Given the description of an element on the screen output the (x, y) to click on. 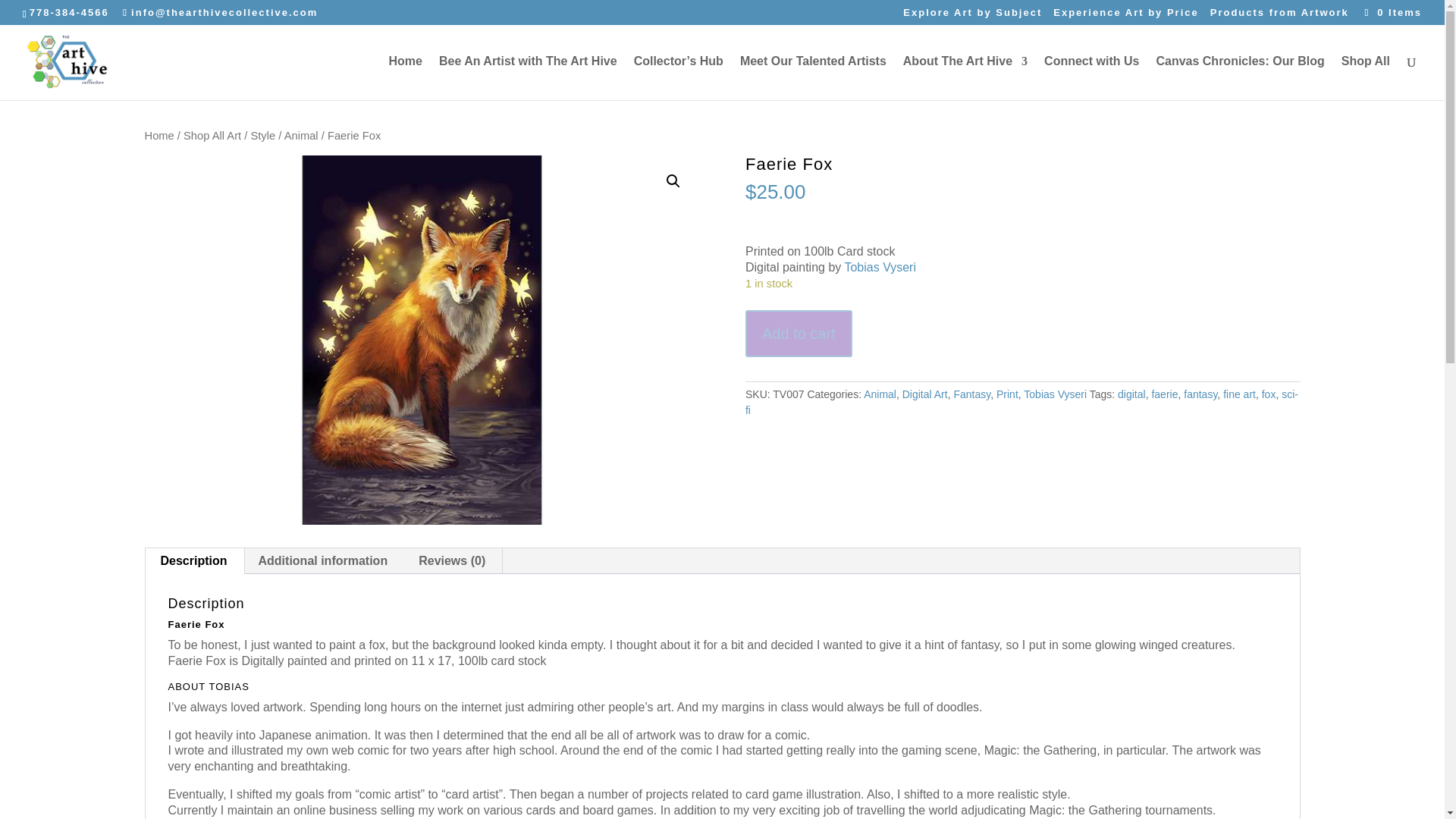
Meet Our Talented Artists (812, 77)
Home (158, 135)
Home (405, 77)
Animal (300, 135)
Animal (879, 394)
Bee An Artist with The Art Hive (528, 77)
Canvas Chronicles: Our Blog (1239, 77)
Shop All (1365, 77)
Digital Art (924, 394)
Fantasy (971, 394)
Print (1006, 394)
Explore Art by Subject (972, 16)
Experience Art by Price (1125, 16)
About The Art Hive (964, 77)
